Given the description of an element on the screen output the (x, y) to click on. 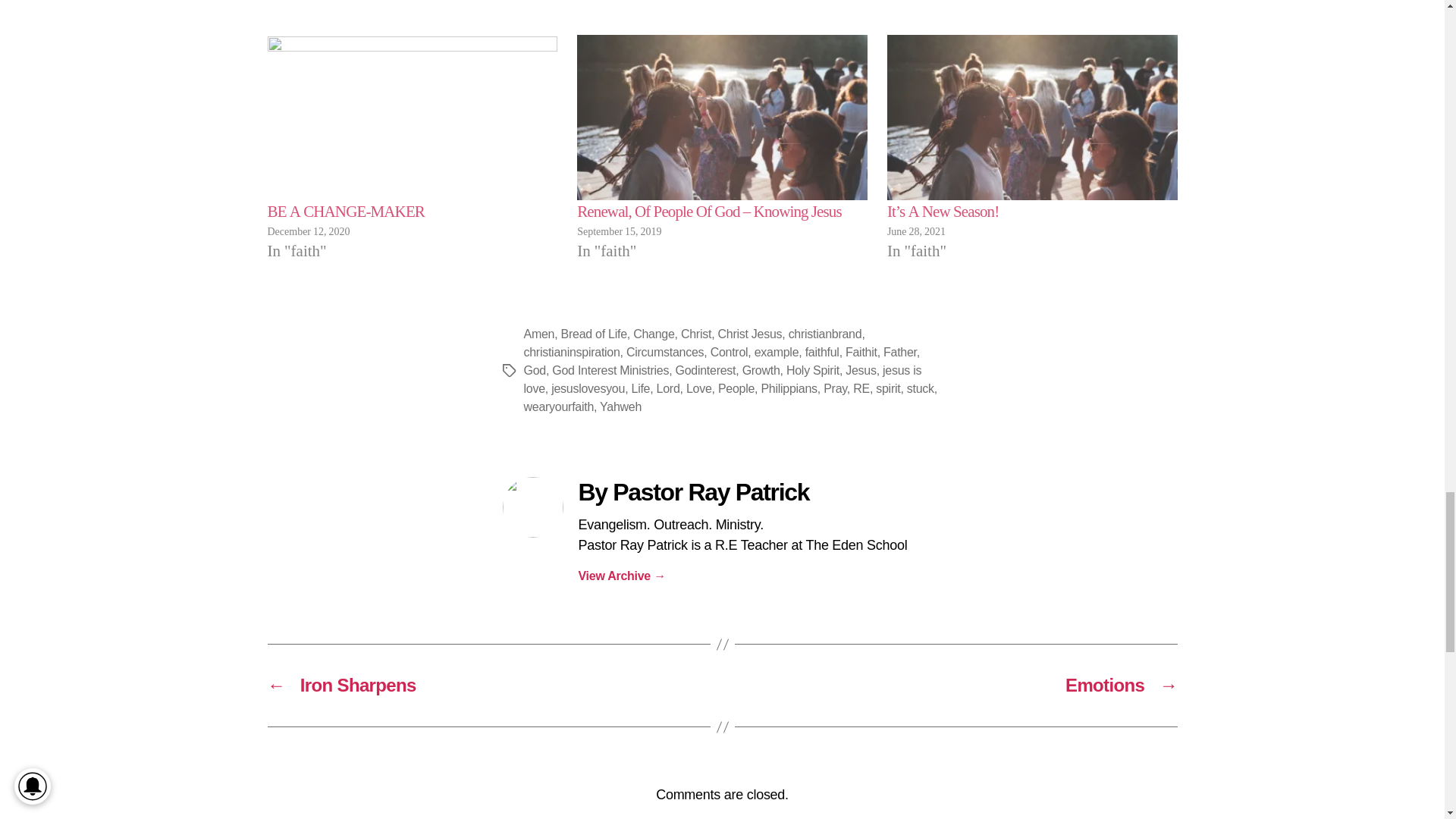
Christ Jesus (749, 333)
Change (653, 333)
Christ (696, 333)
Bread of Life (593, 333)
BE A CHANGE-MAKER (411, 117)
BE A CHANGE-MAKER (345, 211)
Amen (538, 333)
BE A CHANGE-MAKER (345, 211)
